Given the description of an element on the screen output the (x, y) to click on. 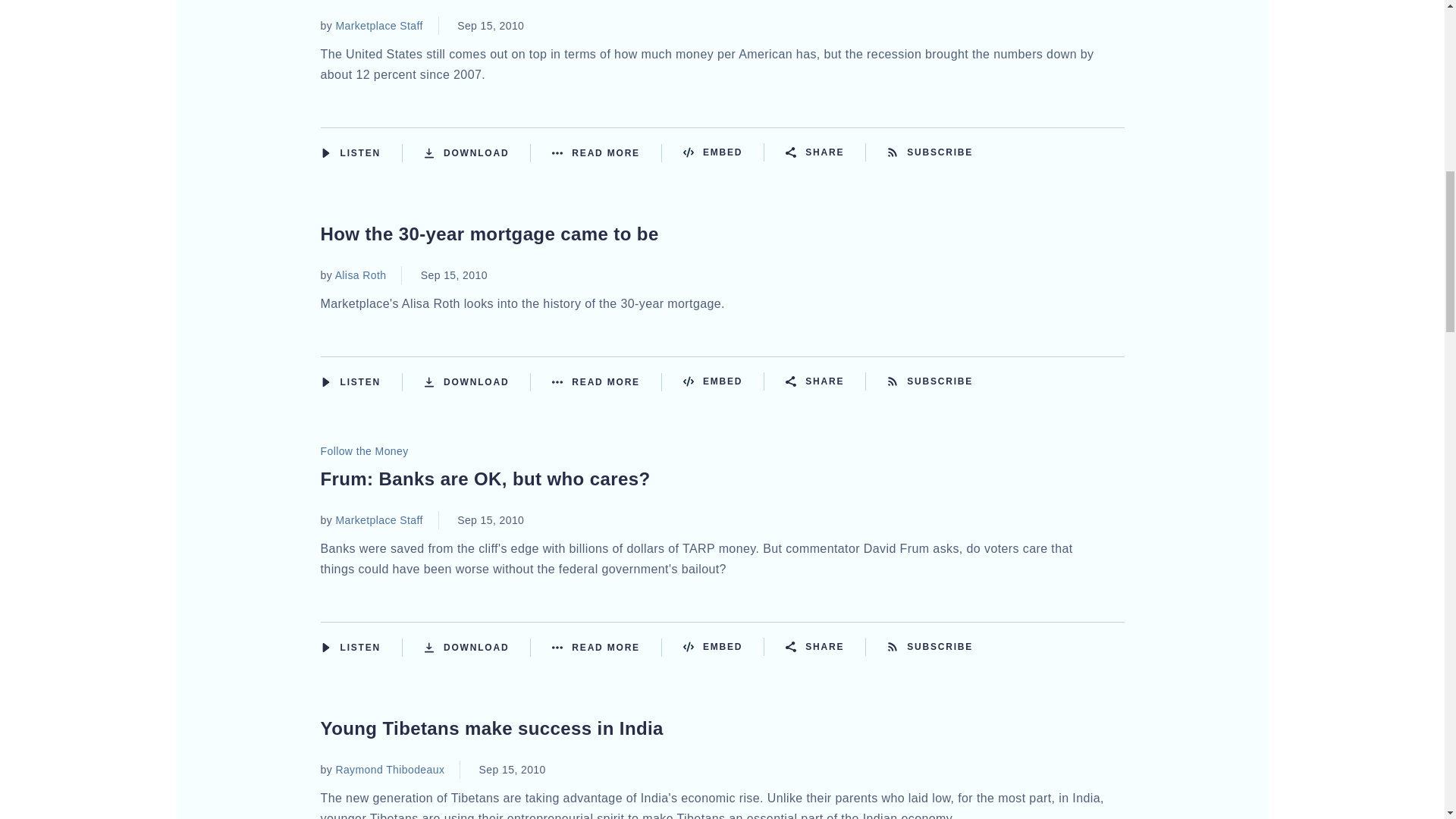
Download (477, 153)
LISTEN (325, 152)
Read More (606, 153)
Listen Now (360, 153)
